Given the description of an element on the screen output the (x, y) to click on. 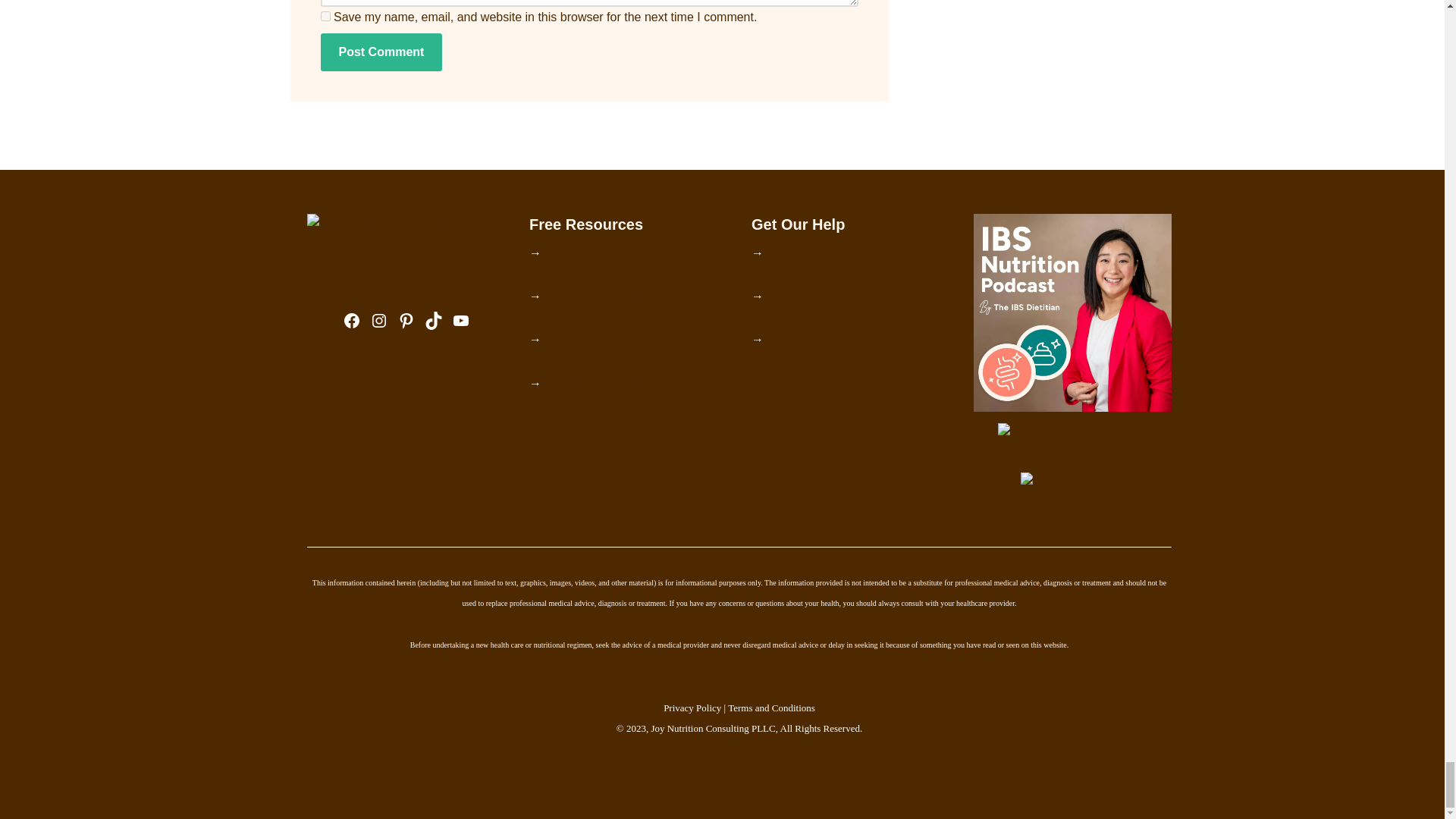
yes (325, 16)
Post Comment (381, 52)
